Given the description of an element on the screen output the (x, y) to click on. 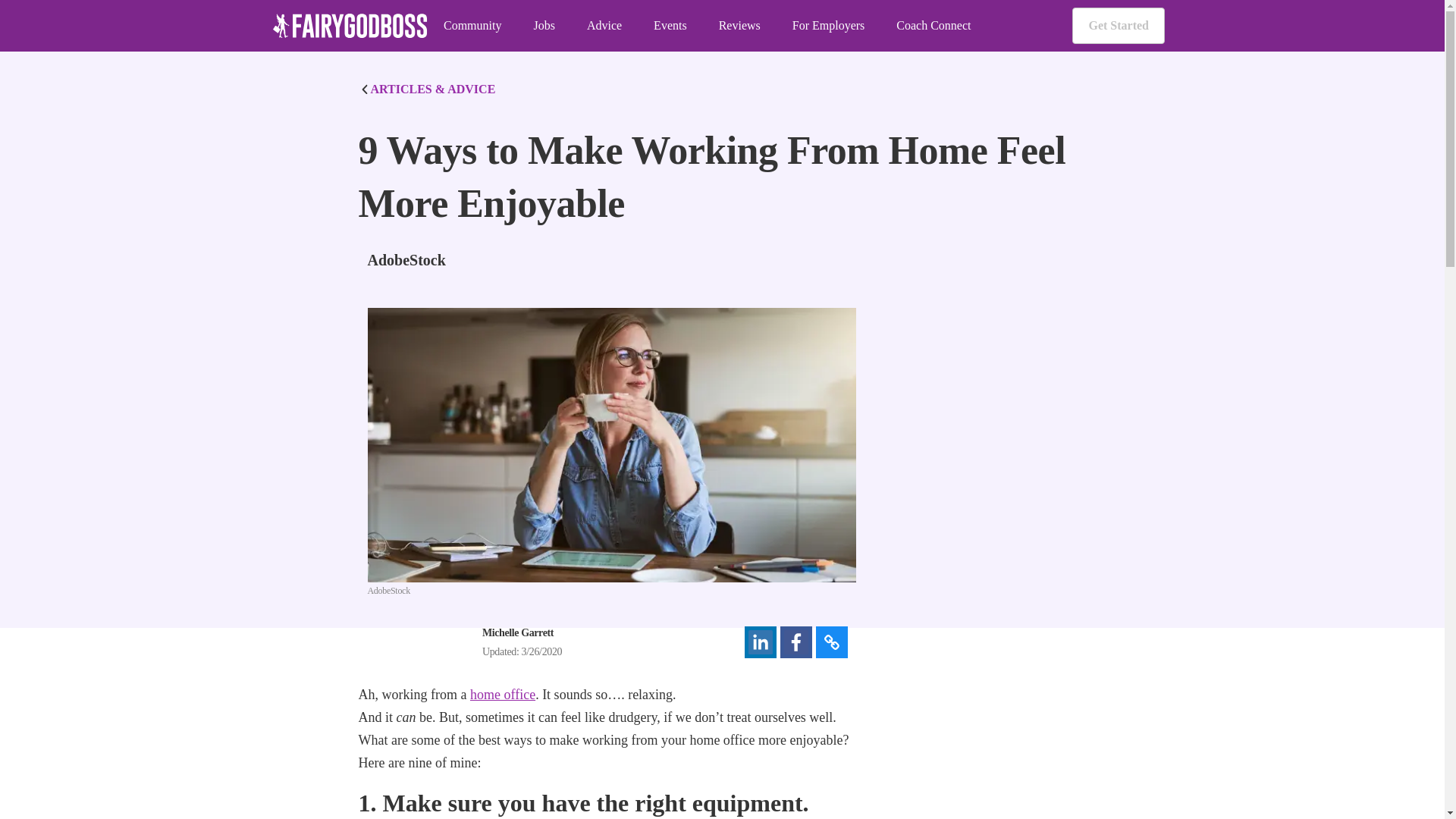
Events (670, 25)
Advice (603, 25)
Events (670, 25)
Jobs (543, 25)
Jobs (543, 25)
For Employers (828, 25)
Coach Connect (933, 25)
home office (502, 694)
Get Started (1117, 25)
Coach Connect (933, 25)
